Given the description of an element on the screen output the (x, y) to click on. 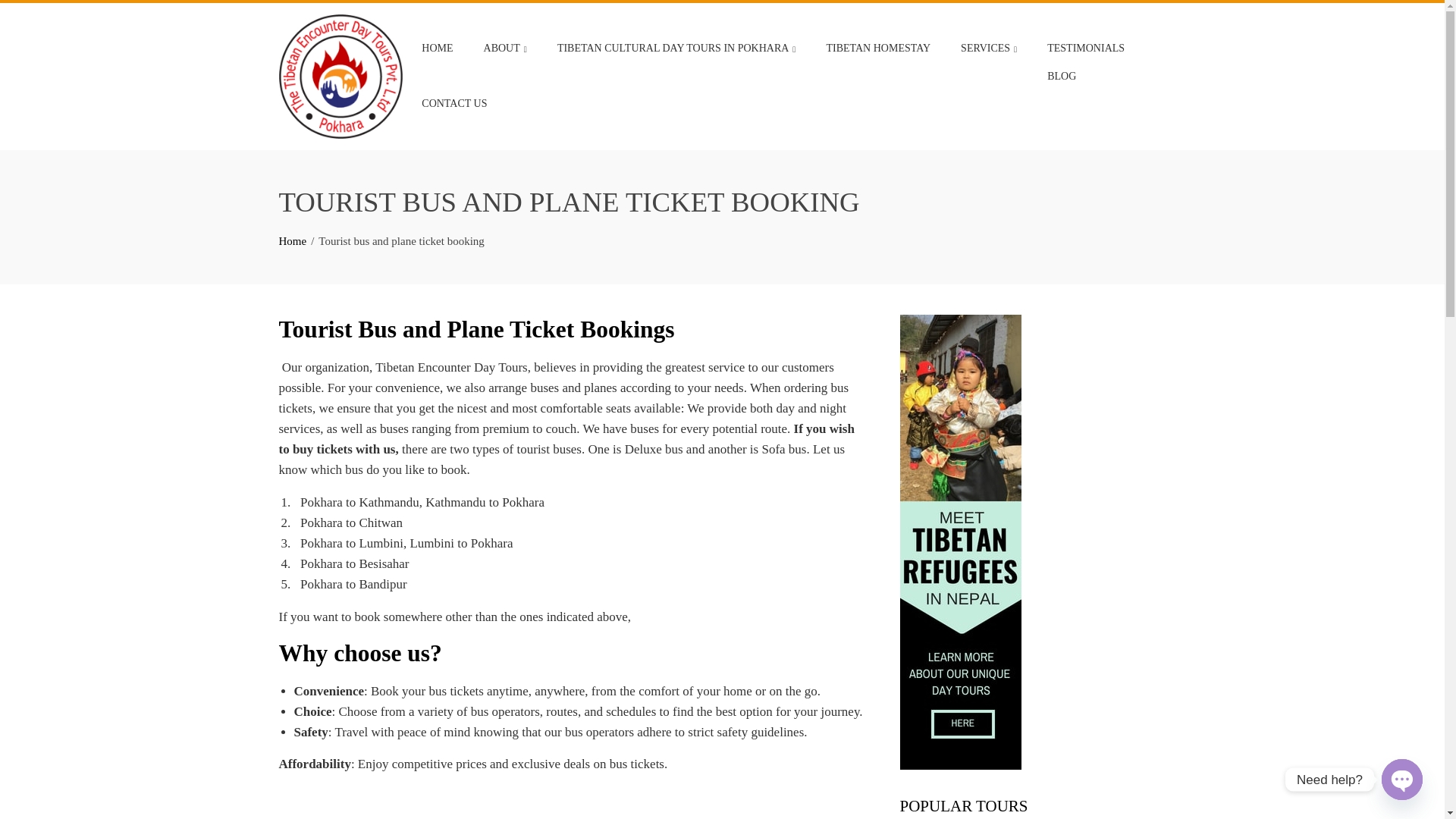
TIBETAN HOMESTAY (877, 48)
TIBETAN CULTURAL DAY TOURS IN POKHARA (677, 49)
ABOUT (504, 49)
SERVICES (988, 49)
HOME (437, 48)
